Given the description of an element on the screen output the (x, y) to click on. 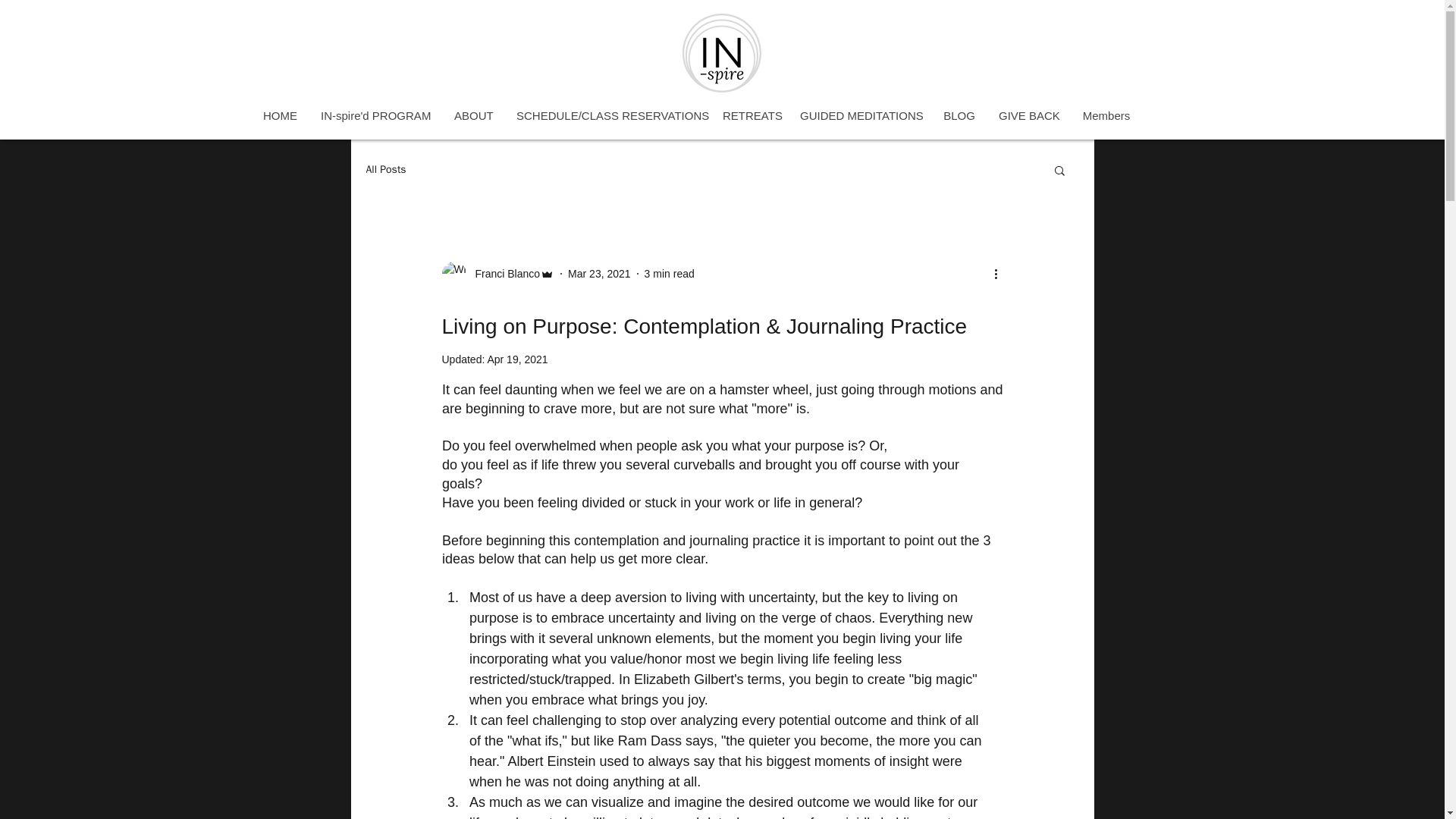
GIVE BACK (1028, 115)
BLOG (959, 115)
IN-spire'd PROGRAM (375, 115)
GUIDED MEDITATIONS (859, 115)
Members (1105, 115)
RETREATS (748, 115)
3 min read (669, 272)
Mar 23, 2021 (598, 272)
ABOUT (472, 115)
Apr 19, 2021 (516, 358)
Franci Blanco (497, 273)
All Posts (385, 169)
HOME (279, 115)
Franci Blanco (502, 273)
